Given the description of an element on the screen output the (x, y) to click on. 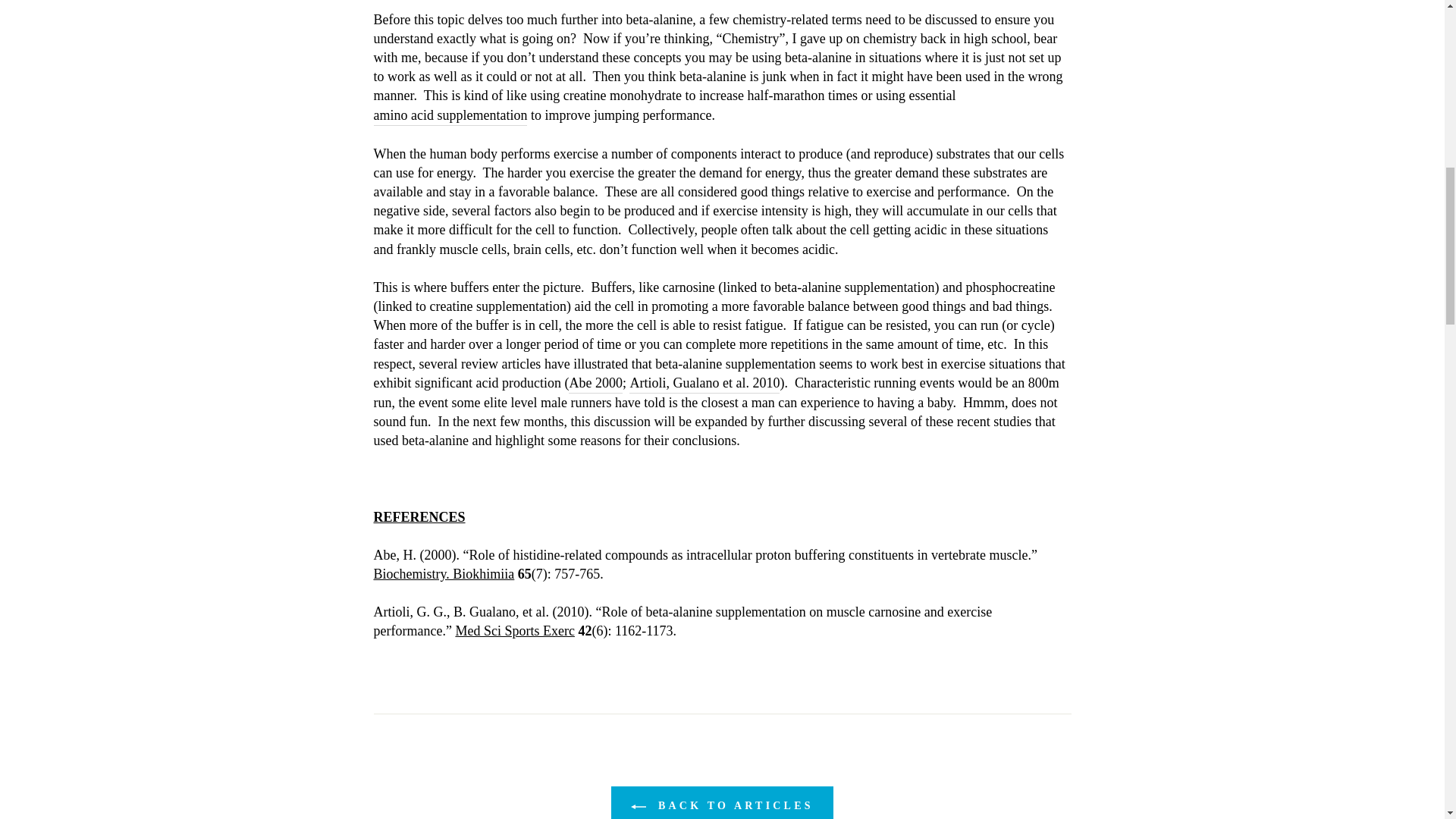
1st Phorm Amino Acids (449, 116)
